Given the description of an element on the screen output the (x, y) to click on. 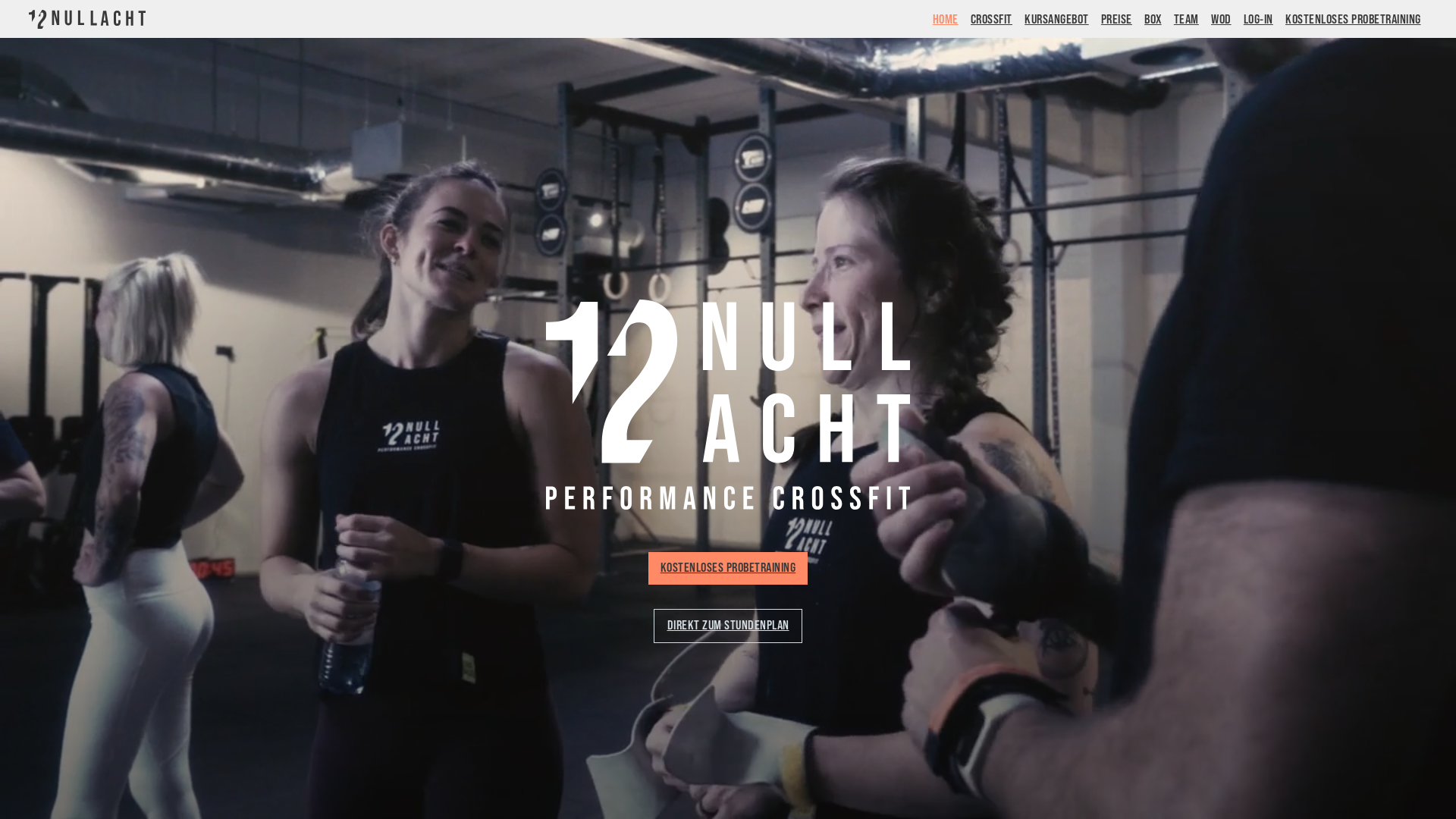
CROSSFIT Element type: text (991, 18)
KURSANGEBOT Element type: text (1056, 18)
HOME Element type: text (945, 18)
KOSTENLOSES PROBETRAINING Element type: text (728, 568)
LOG-IN Element type: text (1258, 18)
KOSTENLOSES PROBETRAINING Element type: text (1353, 18)
BOX Element type: text (1152, 18)
TEAM Element type: text (1185, 18)
PREISE Element type: text (1116, 18)
WOD Element type: text (1220, 18)
DIREKT ZUM STUNDENPLAN Element type: text (727, 625)
